Given the description of an element on the screen output the (x, y) to click on. 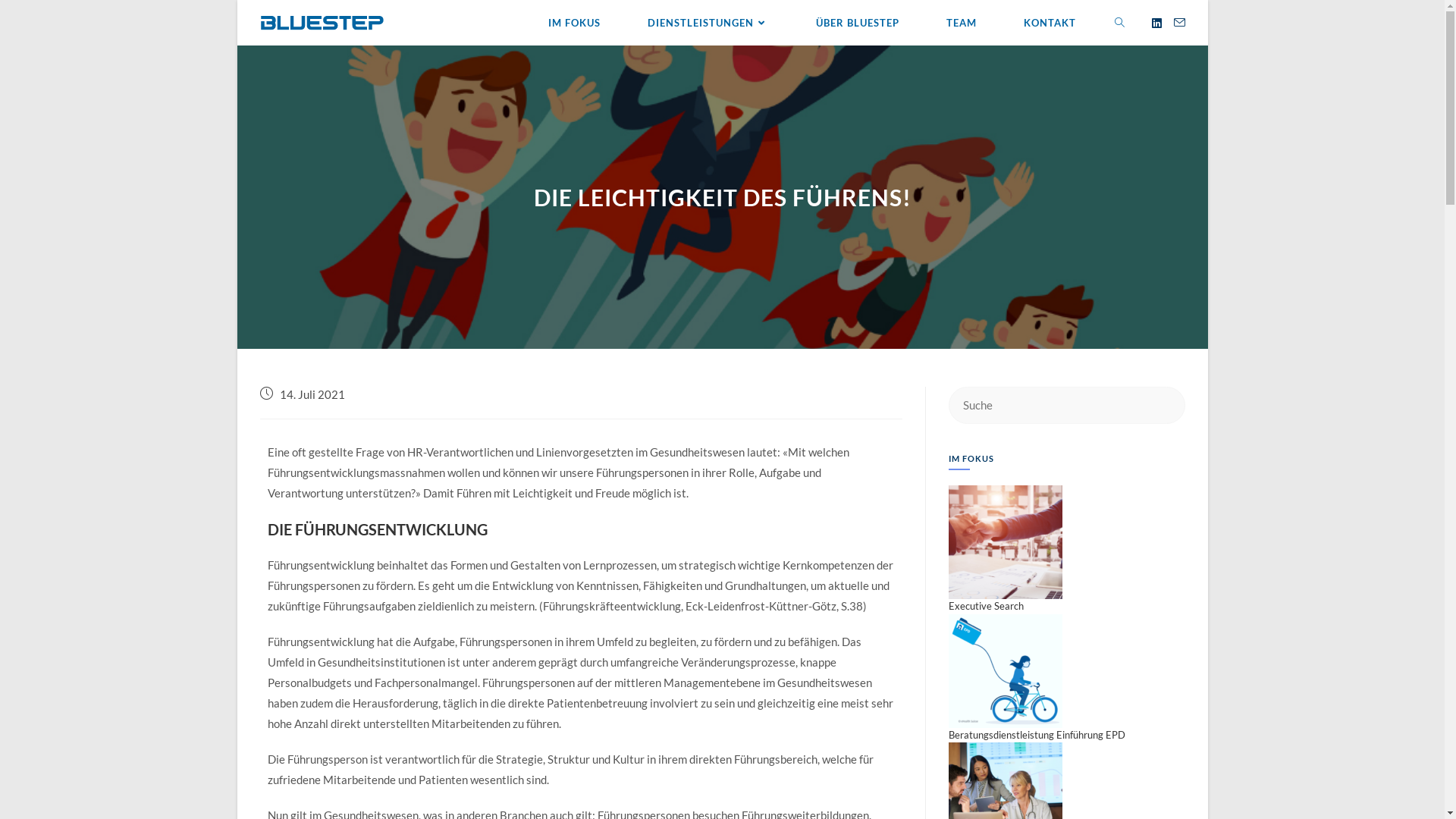
Executive Search Element type: hover (1005, 540)
DIENSTLEISTUNGEN Element type: text (707, 22)
Executive Pool Element type: hover (1005, 797)
IM FOKUS Element type: text (574, 22)
TEAM Element type: text (960, 22)
KONTAKT Element type: text (1048, 22)
Executive Search Element type: text (985, 605)
